Given the description of an element on the screen output the (x, y) to click on. 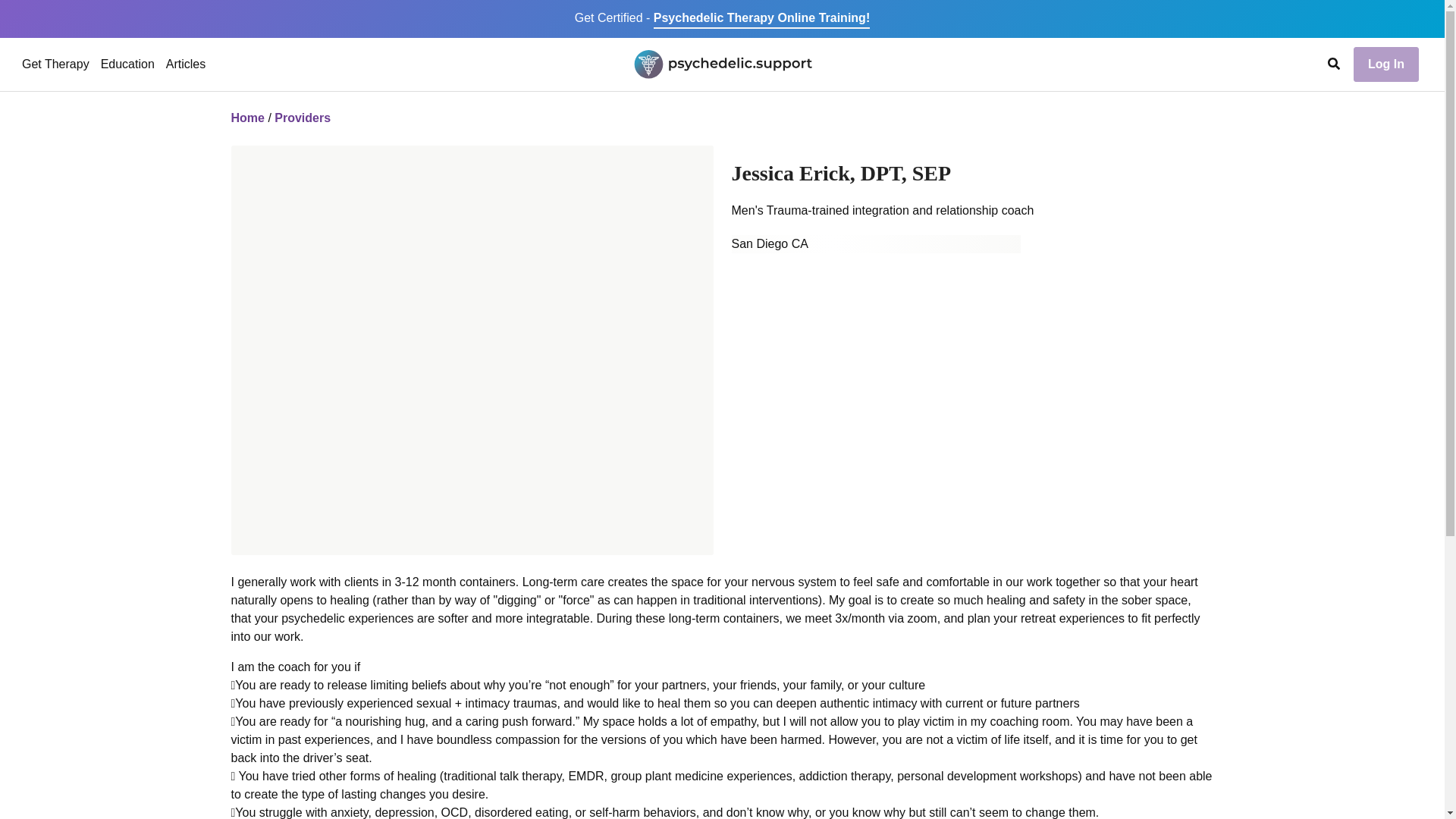
Home (246, 117)
Education (127, 63)
Go to Psychedelic Support Home (721, 64)
Get Therapy (54, 63)
Providers (302, 117)
Log In (1386, 63)
Articles (185, 63)
Get Certified - Psychedelic Therapy Online Training! (722, 17)
Log In (1386, 62)
